Given the description of an element on the screen output the (x, y) to click on. 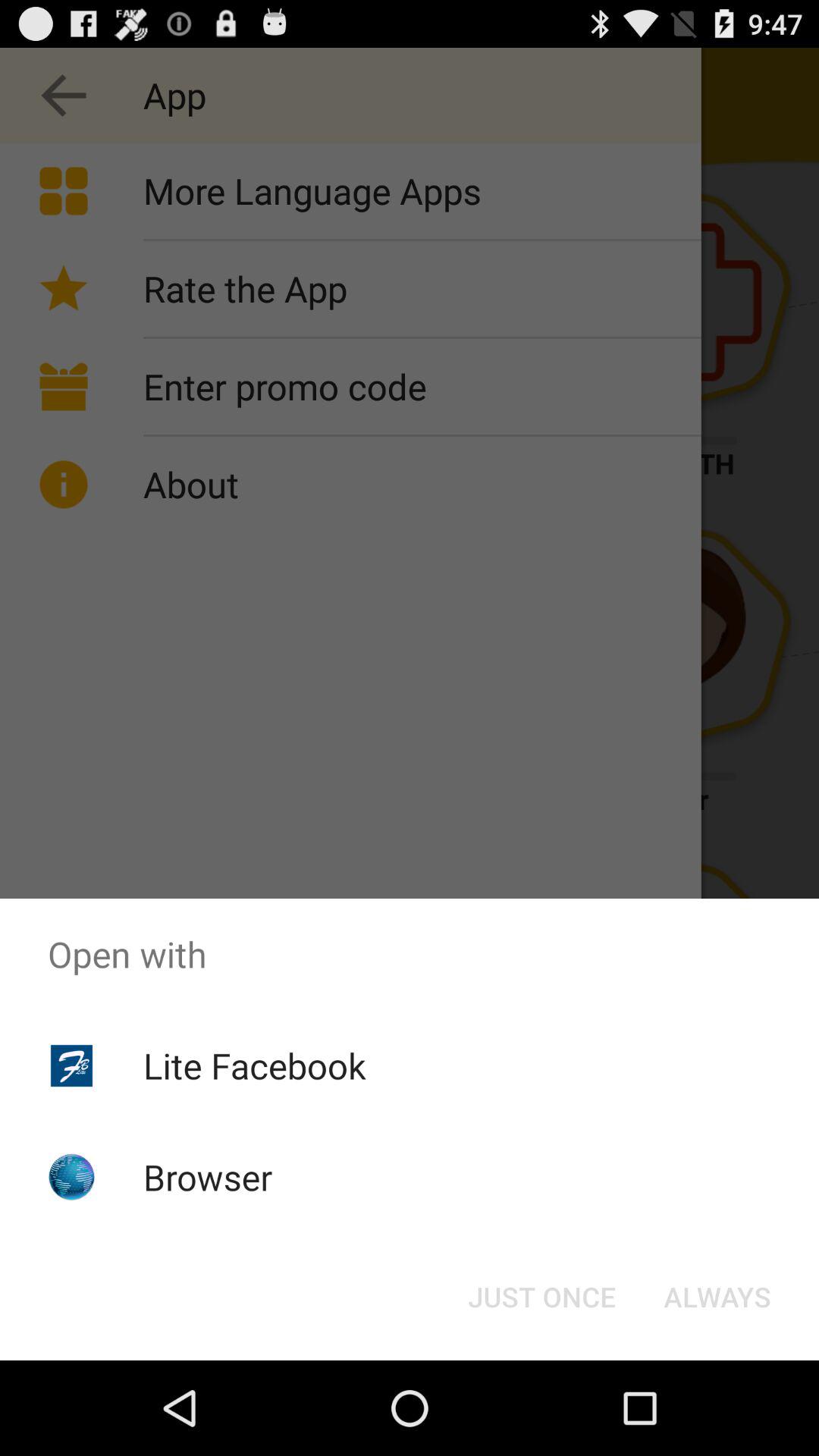
flip until the browser item (207, 1176)
